Given the description of an element on the screen output the (x, y) to click on. 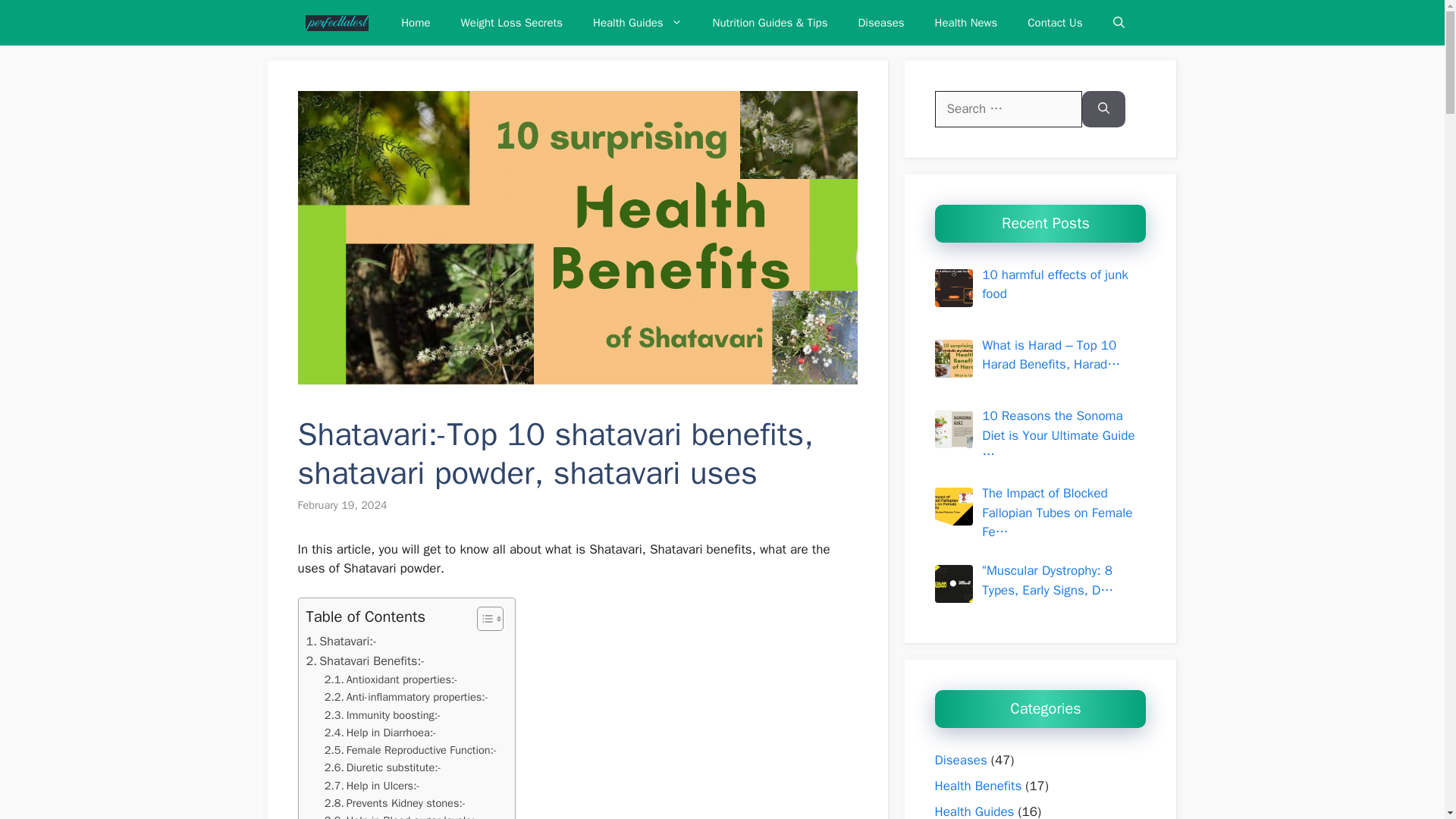
Shatavari:- (341, 641)
Female Reproductive Function:- (410, 750)
Help in Blood sugar levels:- (401, 815)
Home (415, 22)
Female Reproductive Function:- (410, 750)
Antioxidant properties:- (391, 679)
Diuretic substitute:- (382, 767)
Immunity boosting:- (382, 714)
Help in Ulcers:- (372, 785)
Help in Ulcers:- (372, 785)
